Given the description of an element on the screen output the (x, y) to click on. 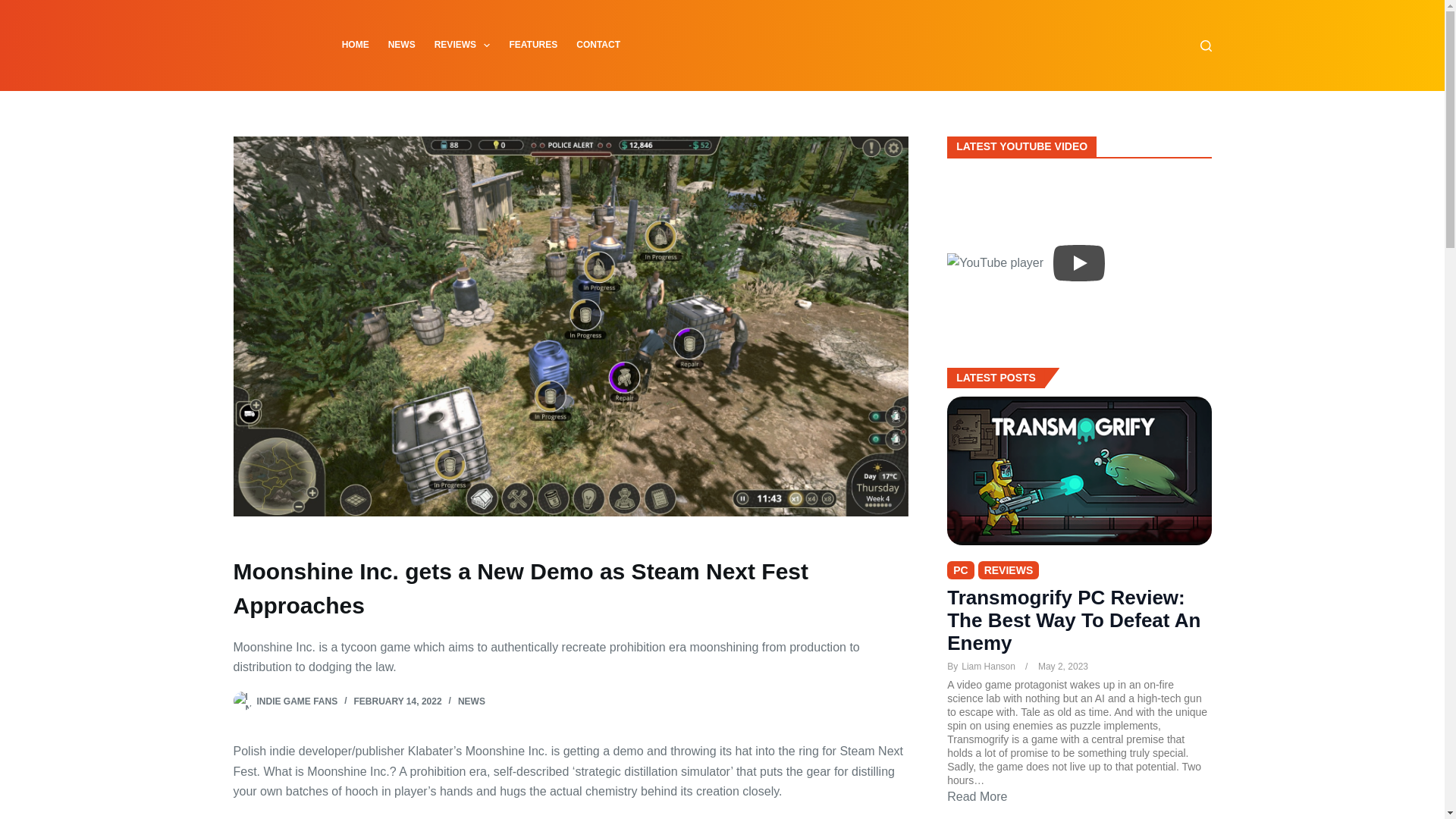
Posts by Indie Game Fans (296, 701)
Moonshine Inc. gets a New Demo as Steam Next Fest Approaches (570, 588)
NEWS (471, 701)
Skip to content (15, 7)
INDIE GAME FANS (296, 701)
